Given the description of an element on the screen output the (x, y) to click on. 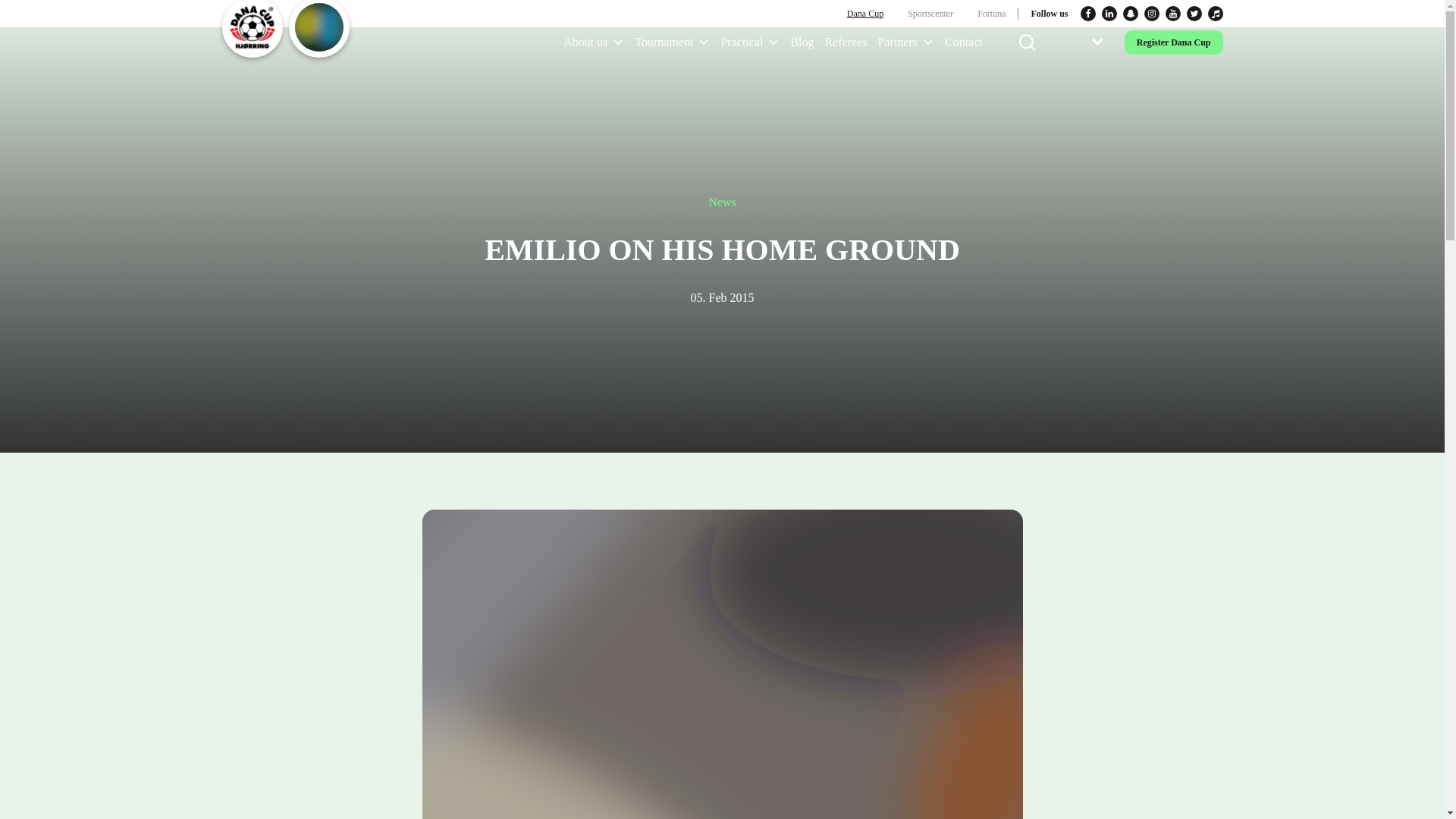
Practical (749, 42)
Sportscenter (930, 13)
Dana Cup (864, 13)
Tournament (671, 42)
Fortuna (991, 13)
About us (592, 42)
